Given the description of an element on the screen output the (x, y) to click on. 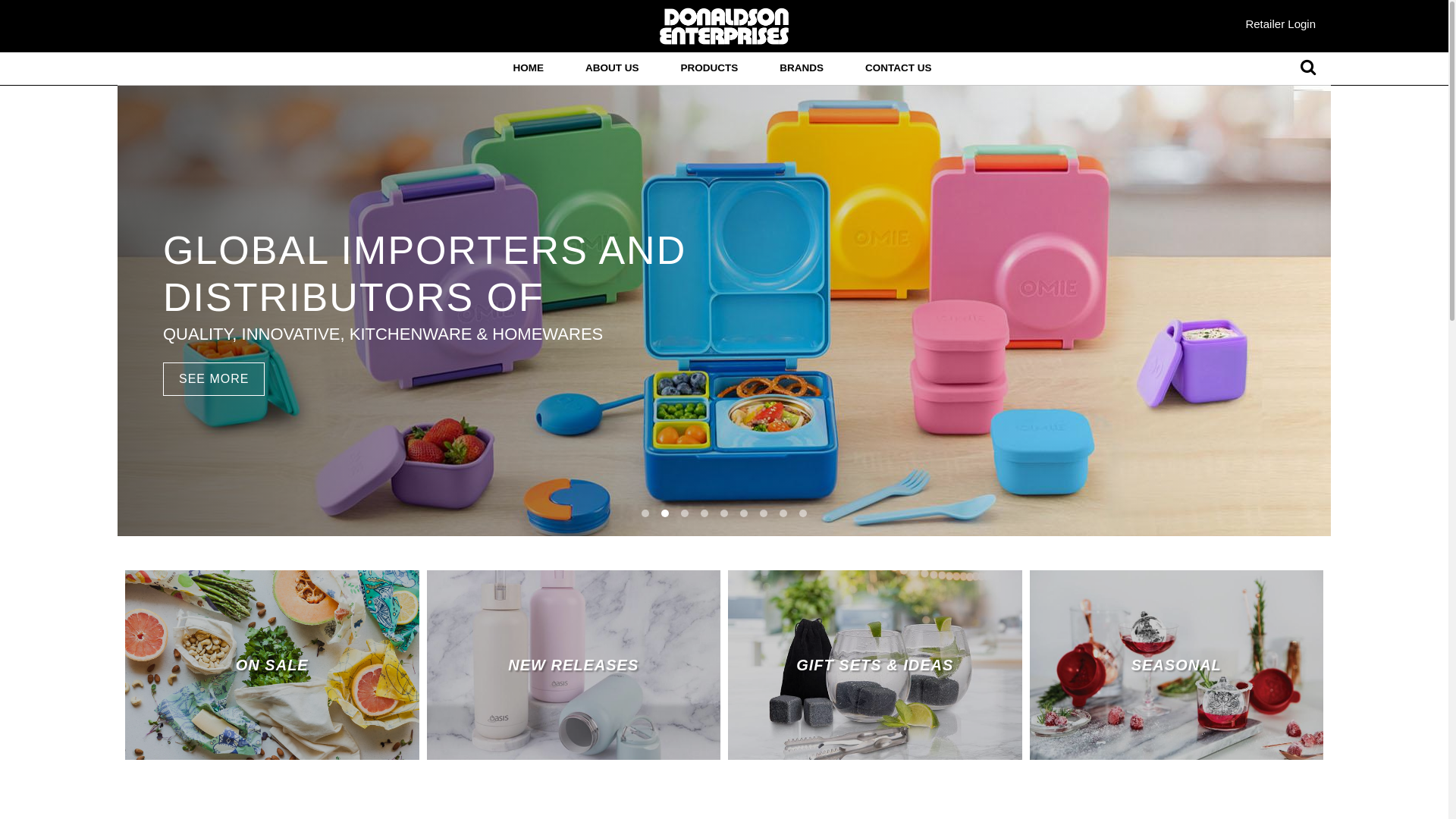
2 Element type: text (664, 513)
PRODUCTS Element type: text (708, 68)
CONTACT US Element type: text (898, 68)
7 Element type: text (763, 513)
1 Element type: text (645, 513)
SEE MORE Element type: text (213, 378)
BRANDS Element type: text (801, 68)
5 Element type: text (724, 513)
8 Element type: text (783, 513)
4 Element type: text (704, 513)
Retailer Login Element type: text (1280, 23)
Search Element type: hover (1307, 68)
6 Element type: text (743, 513)
Donaldson Enterprises Element type: hover (724, 25)
HOME Element type: text (528, 68)
NEW RELEASES Element type: text (573, 664)
9 Element type: text (802, 513)
ON SALE Element type: text (272, 664)
GIFT SETS & IDEAS Element type: text (875, 664)
ABOUT US Element type: text (611, 68)
3 Element type: text (684, 513)
SEASONAL Element type: text (1176, 664)
